Given the description of an element on the screen output the (x, y) to click on. 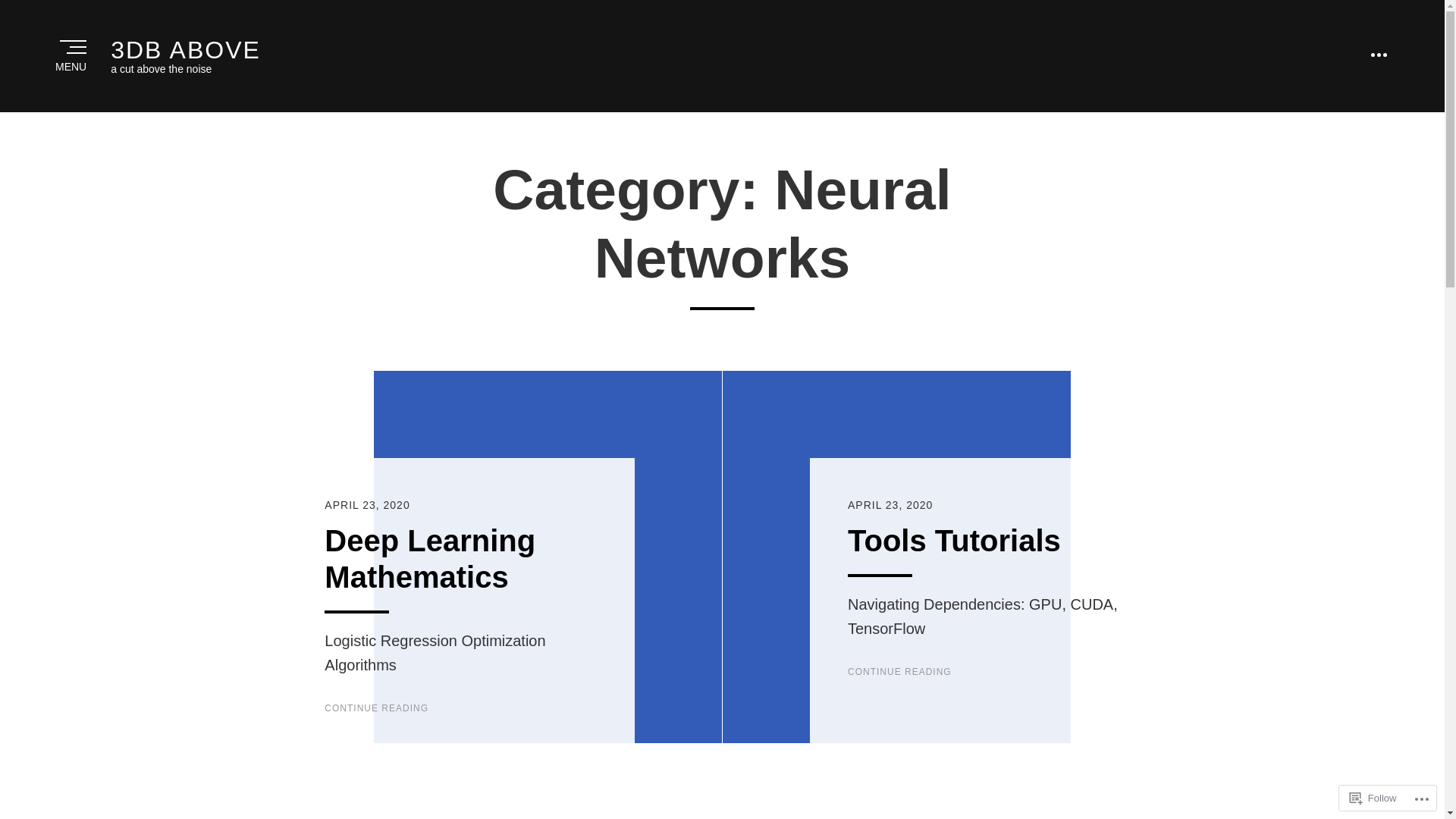
MENU Element type: text (71, 56)
Deep Learning Mathematics Element type: text (429, 558)
Follow Element type: text (1372, 797)
APRIL 23, 2020 Element type: text (366, 504)
Tools Tutorials Element type: text (953, 540)
3DB ABOVE Element type: text (185, 49)
CONTINUE READING Element type: text (376, 707)
APRIL 23, 2020 Element type: text (889, 504)
CONTINUE READING Element type: text (899, 671)
